Given the description of an element on the screen output the (x, y) to click on. 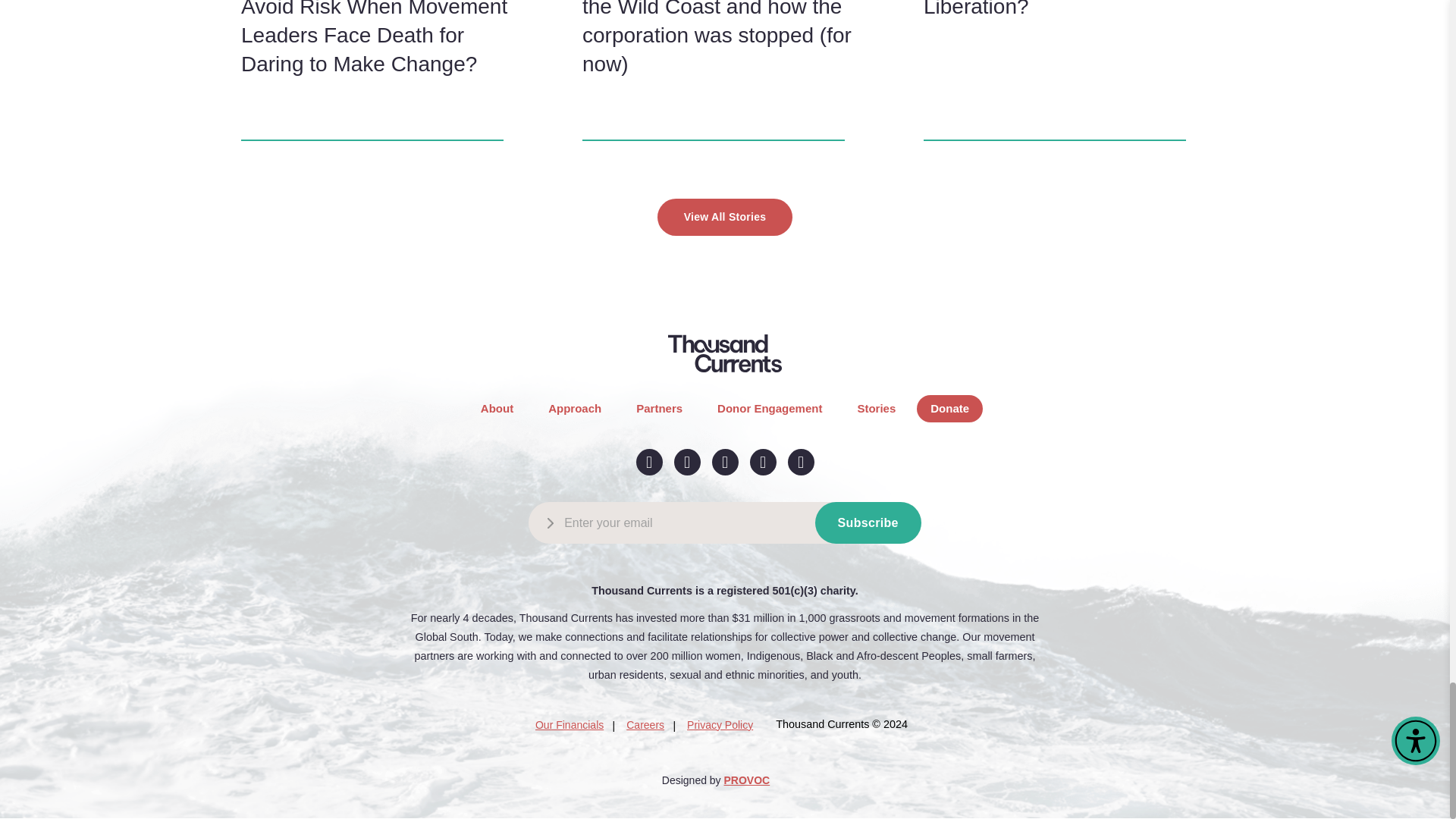
Subscribe (868, 522)
